Given the description of an element on the screen output the (x, y) to click on. 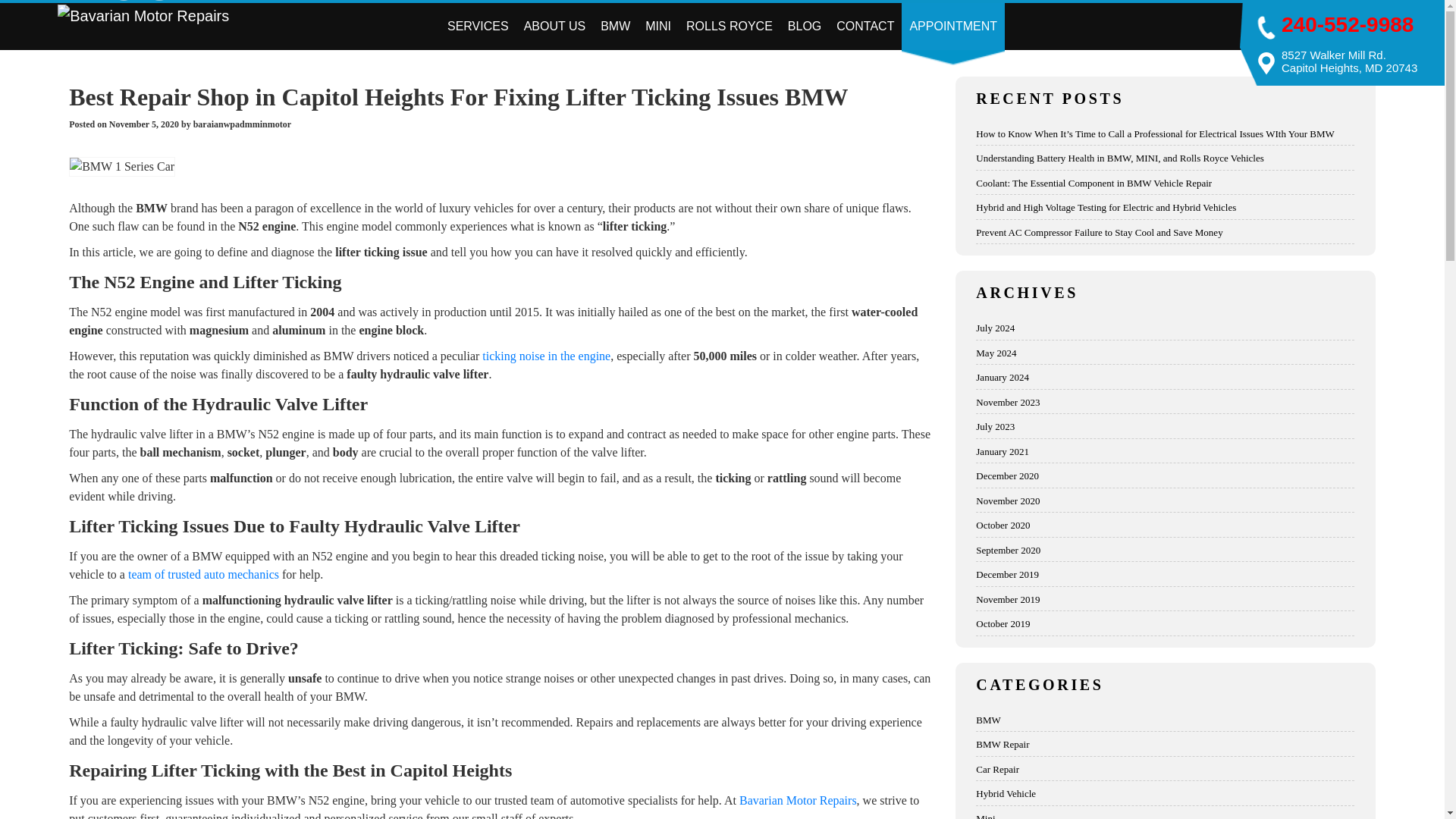
January 2024 (1164, 377)
team of trusted auto mechanics (203, 574)
BMW (614, 26)
November 2020 (1164, 500)
September 2020 (1164, 549)
SERVICES (477, 26)
December 2020 (1164, 476)
Prevent AC Compressor Failure to Stay Cool and Save Money (1164, 232)
APPOINTMENT (952, 26)
240-552-9988 (1347, 24)
